Given the description of an element on the screen output the (x, y) to click on. 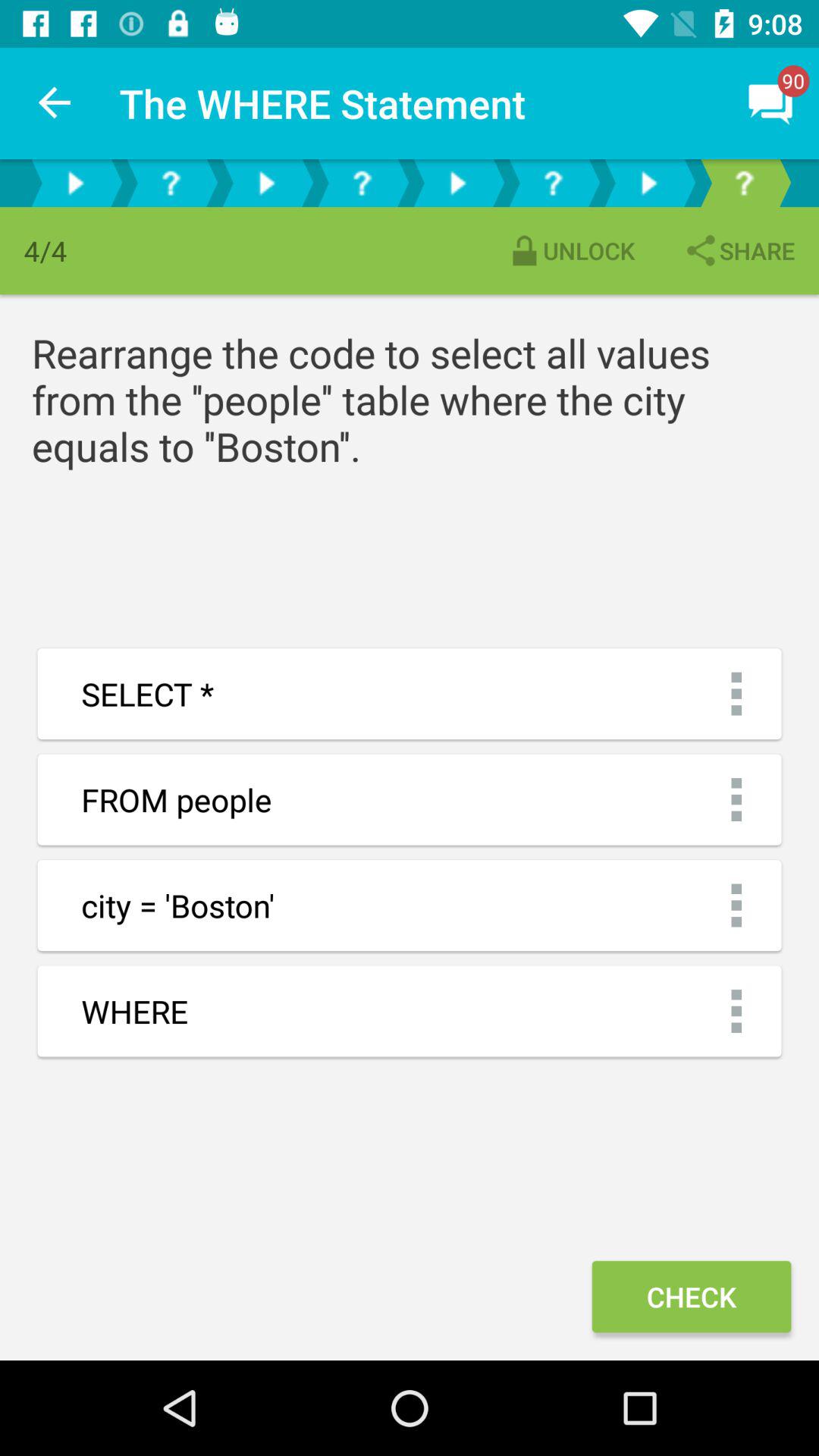
tap the icon to the left of the share item (570, 250)
